Given the description of an element on the screen output the (x, y) to click on. 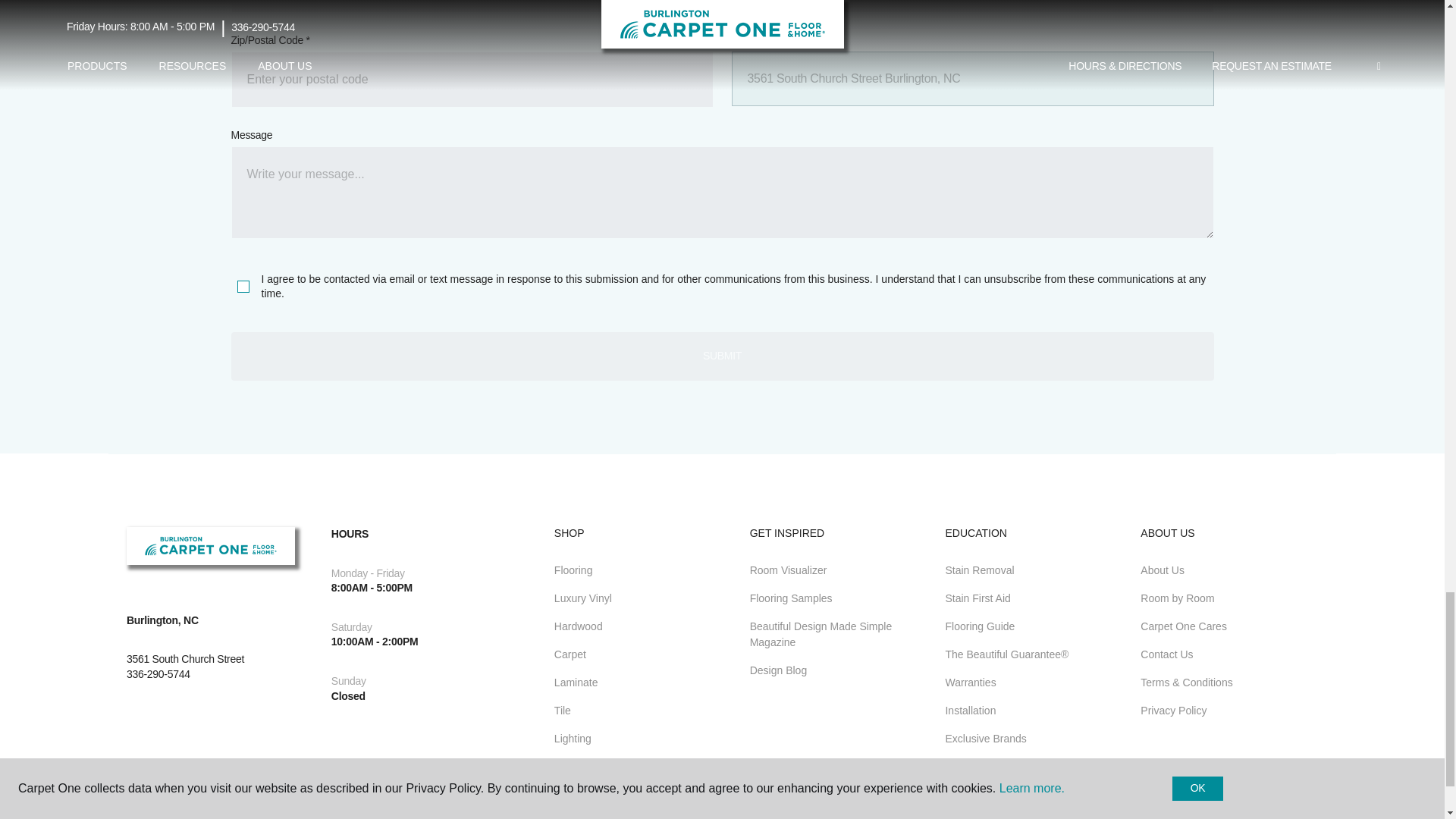
MyMessage (721, 192)
PostalCode (471, 79)
EmailAddress (971, 6)
CleanHomePhone (471, 6)
